Given the description of an element on the screen output the (x, y) to click on. 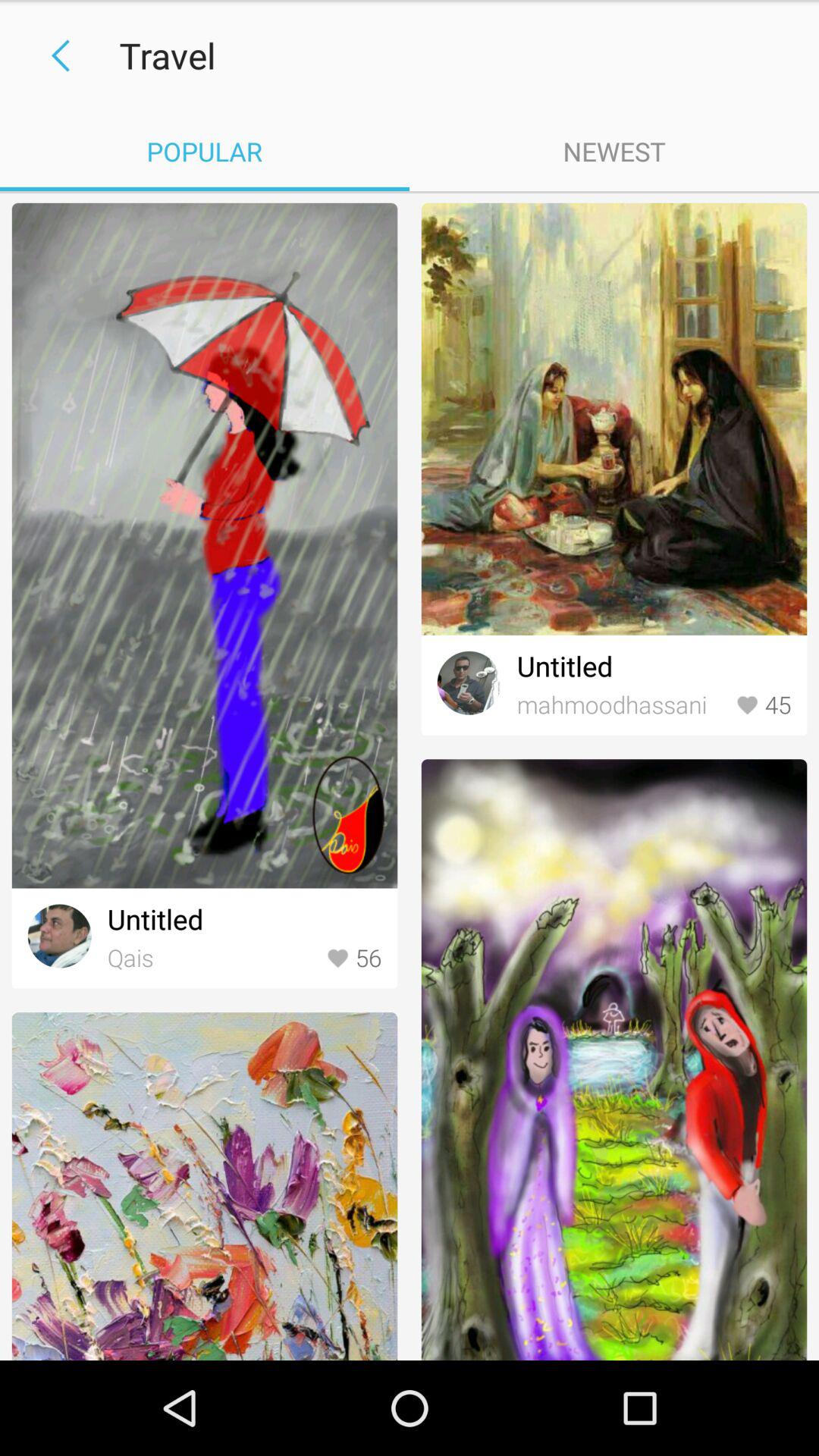
select icon next to the 56 (213, 958)
